Given the description of an element on the screen output the (x, y) to click on. 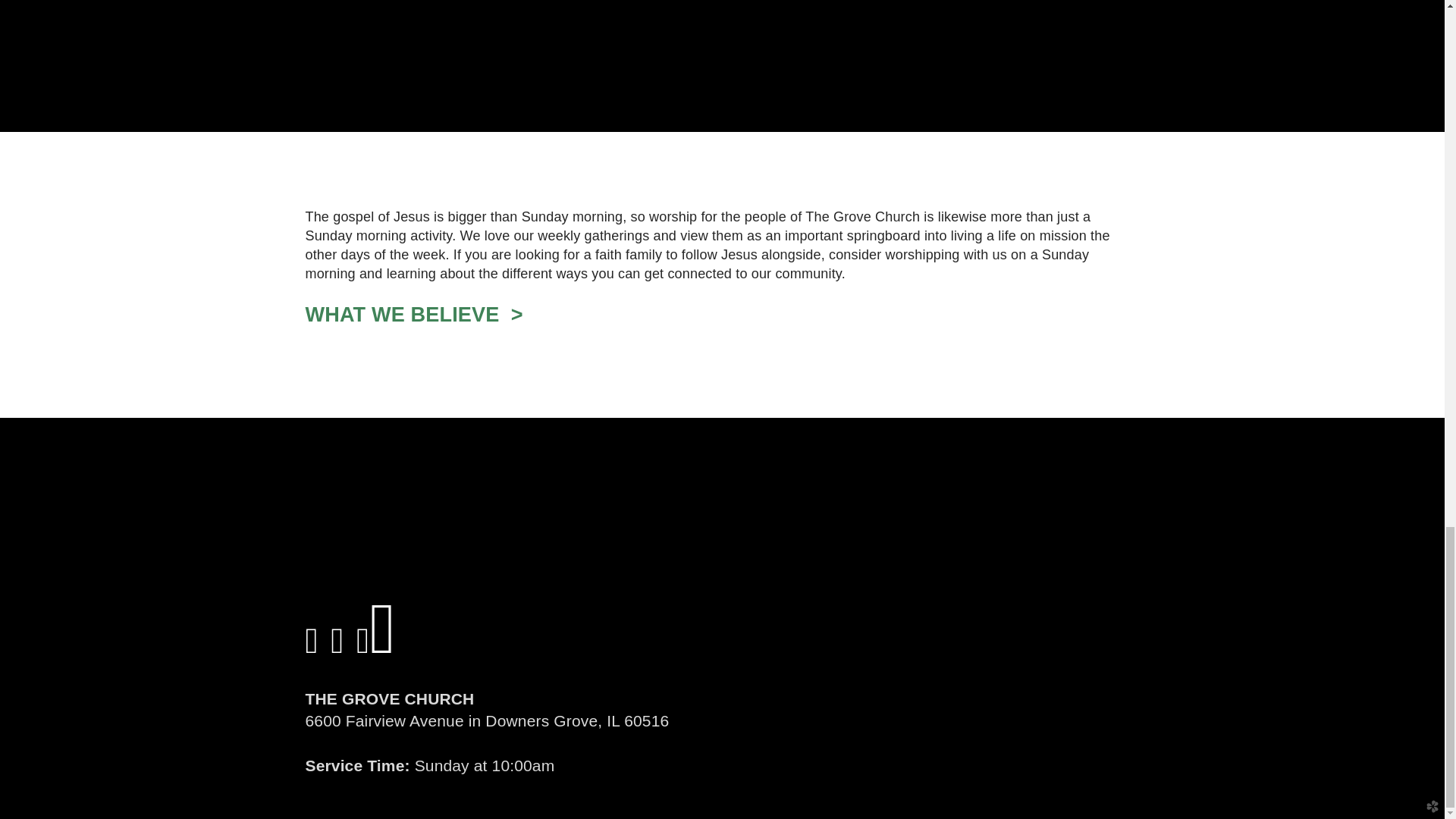
church websites by clover (1431, 807)
